Given the description of an element on the screen output the (x, y) to click on. 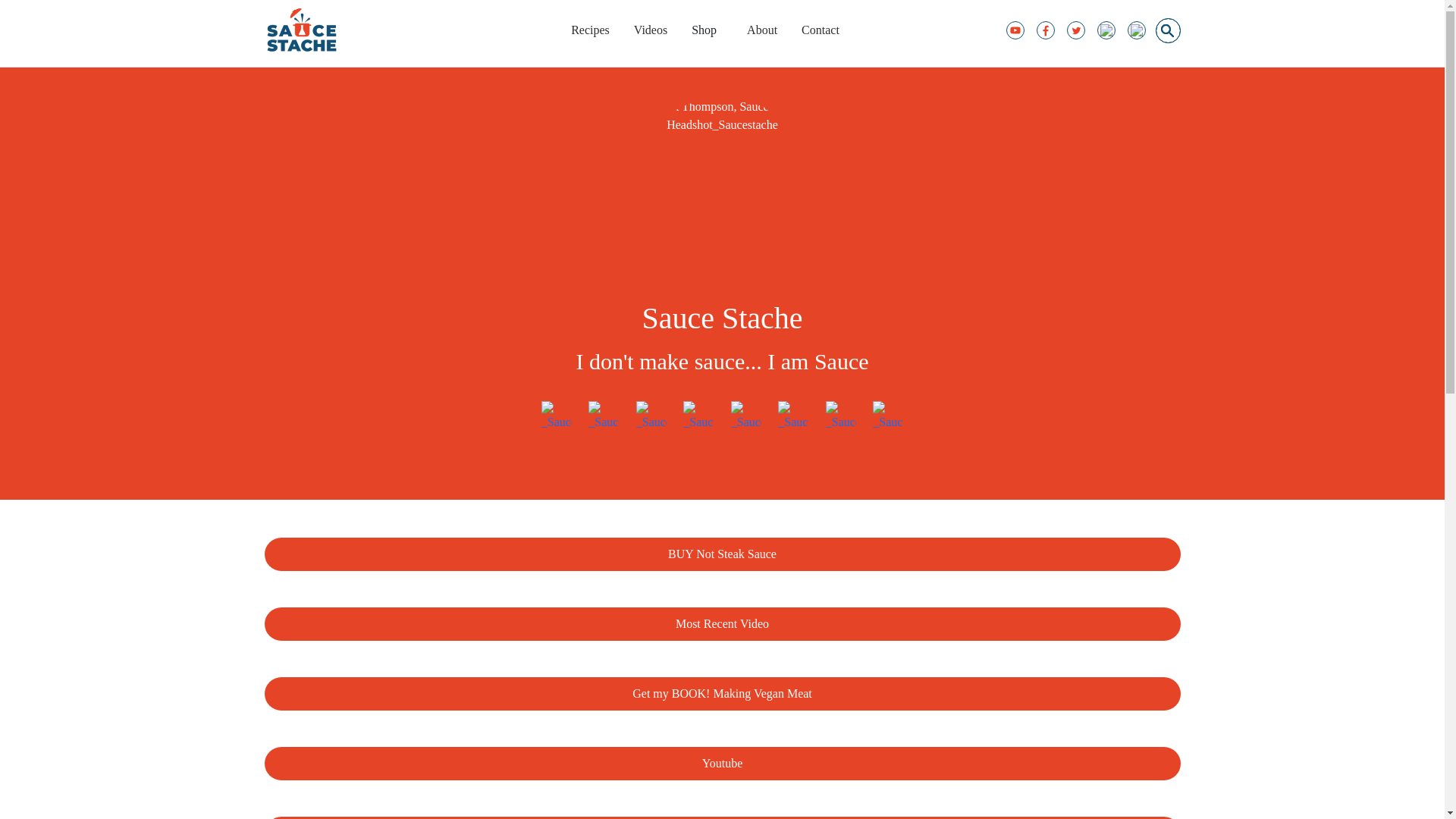
Recipes (589, 29)
BUY Not Steak Sauce (721, 553)
twitter (792, 414)
About (762, 29)
facebook (651, 414)
Videos (649, 29)
snapchat (745, 414)
Youtube (721, 763)
youtube (556, 414)
Get my BOOK! Making Vegan Meat (721, 693)
